Given the description of an element on the screen output the (x, y) to click on. 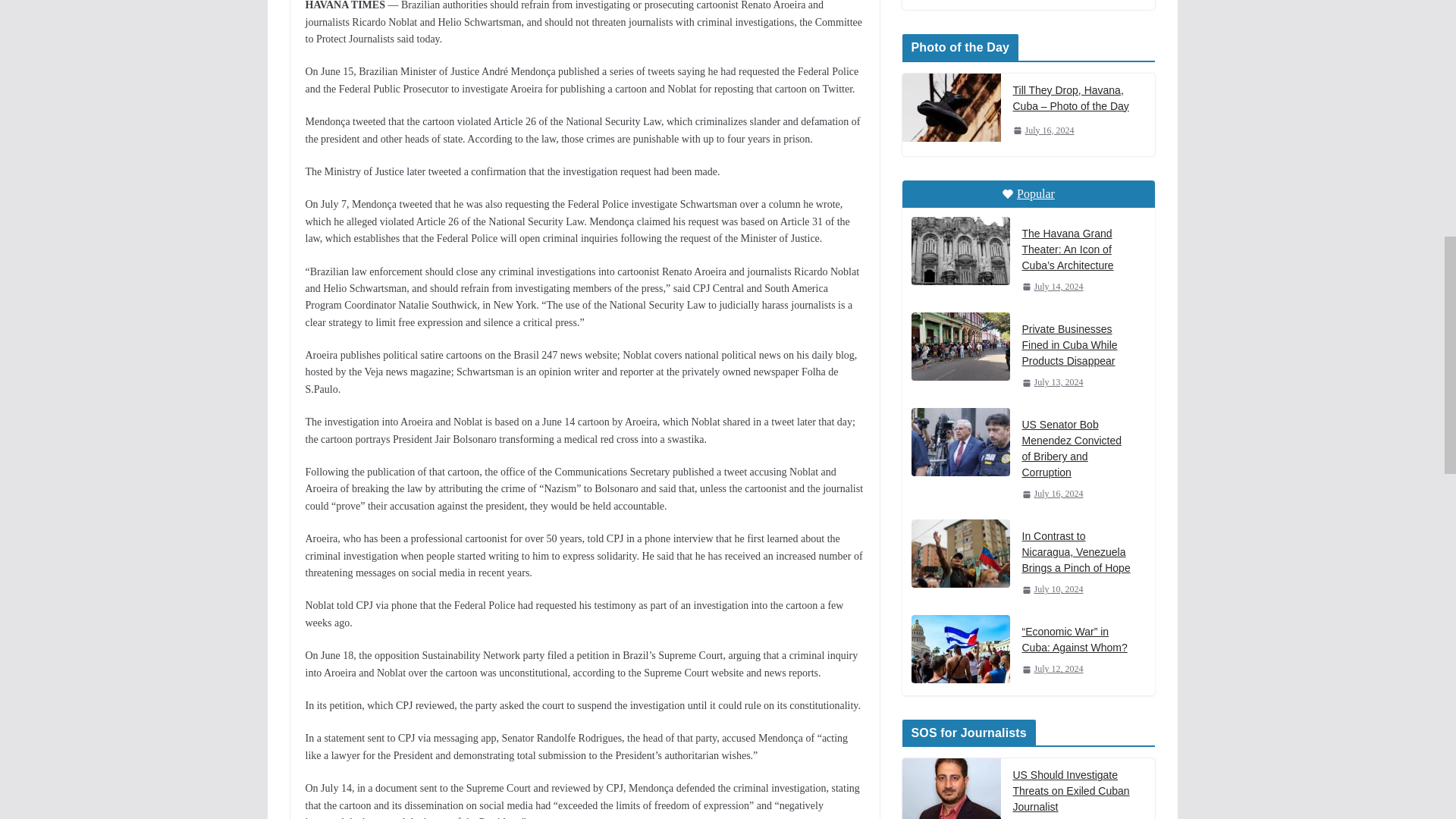
July 16, 2024 (1043, 130)
Popular (1028, 194)
